Given the description of an element on the screen output the (x, y) to click on. 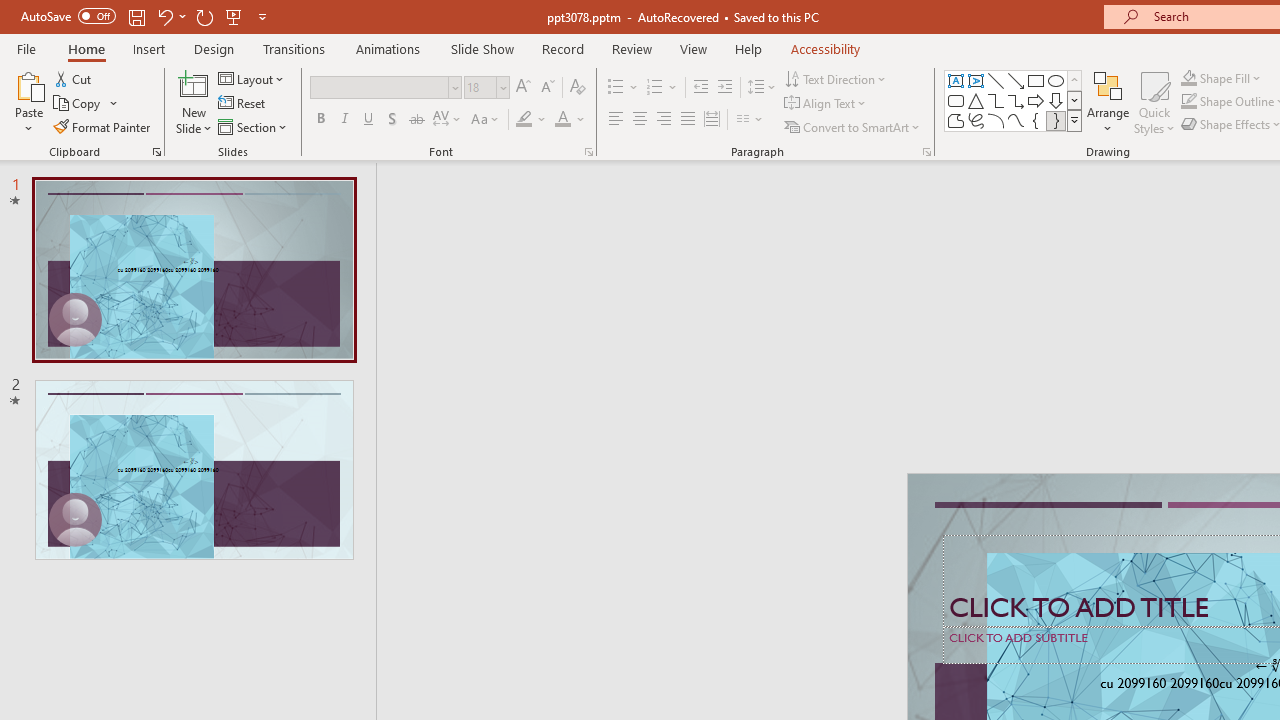
New Slide (193, 84)
Row Down (1074, 100)
Arrow: Right (1035, 100)
Line (995, 80)
Line Arrow (1016, 80)
Shape Fill (1221, 78)
Increase Font Size (522, 87)
Italic (344, 119)
Character Spacing (447, 119)
Center (639, 119)
Connector: Elbow Arrow (1016, 100)
Reset (243, 103)
Cut (73, 78)
